Given the description of an element on the screen output the (x, y) to click on. 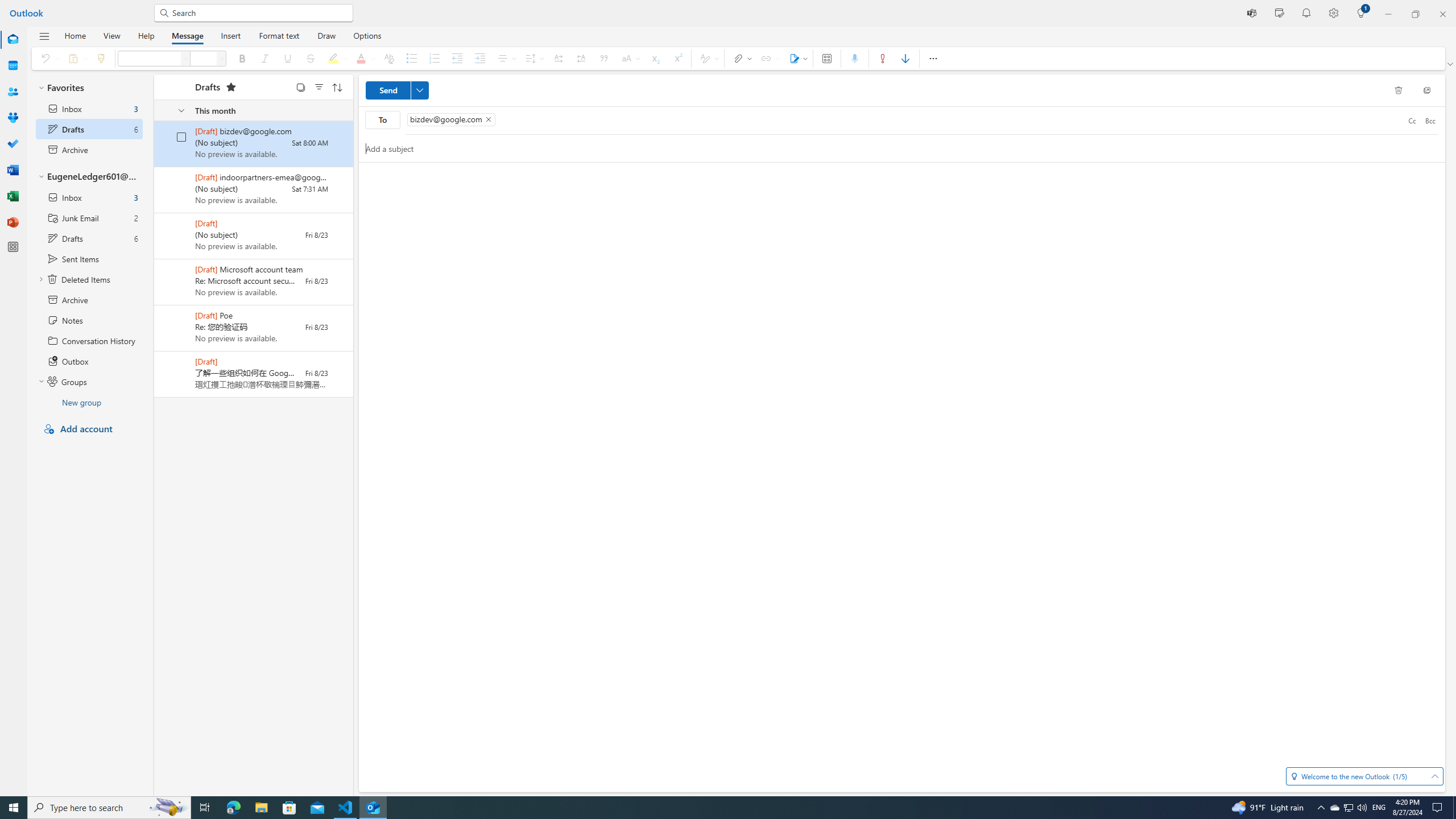
To Do (12, 143)
Italic (264, 58)
Change case (629, 58)
More apps (12, 246)
More send options (419, 90)
EugeneLedger601@outlook.com (89, 176)
Select a message (172, 367)
Signature (796, 58)
Deleted Items (89, 278)
Word (12, 169)
Quote (603, 58)
Excel (12, 196)
High importance (881, 58)
